Given the description of an element on the screen output the (x, y) to click on. 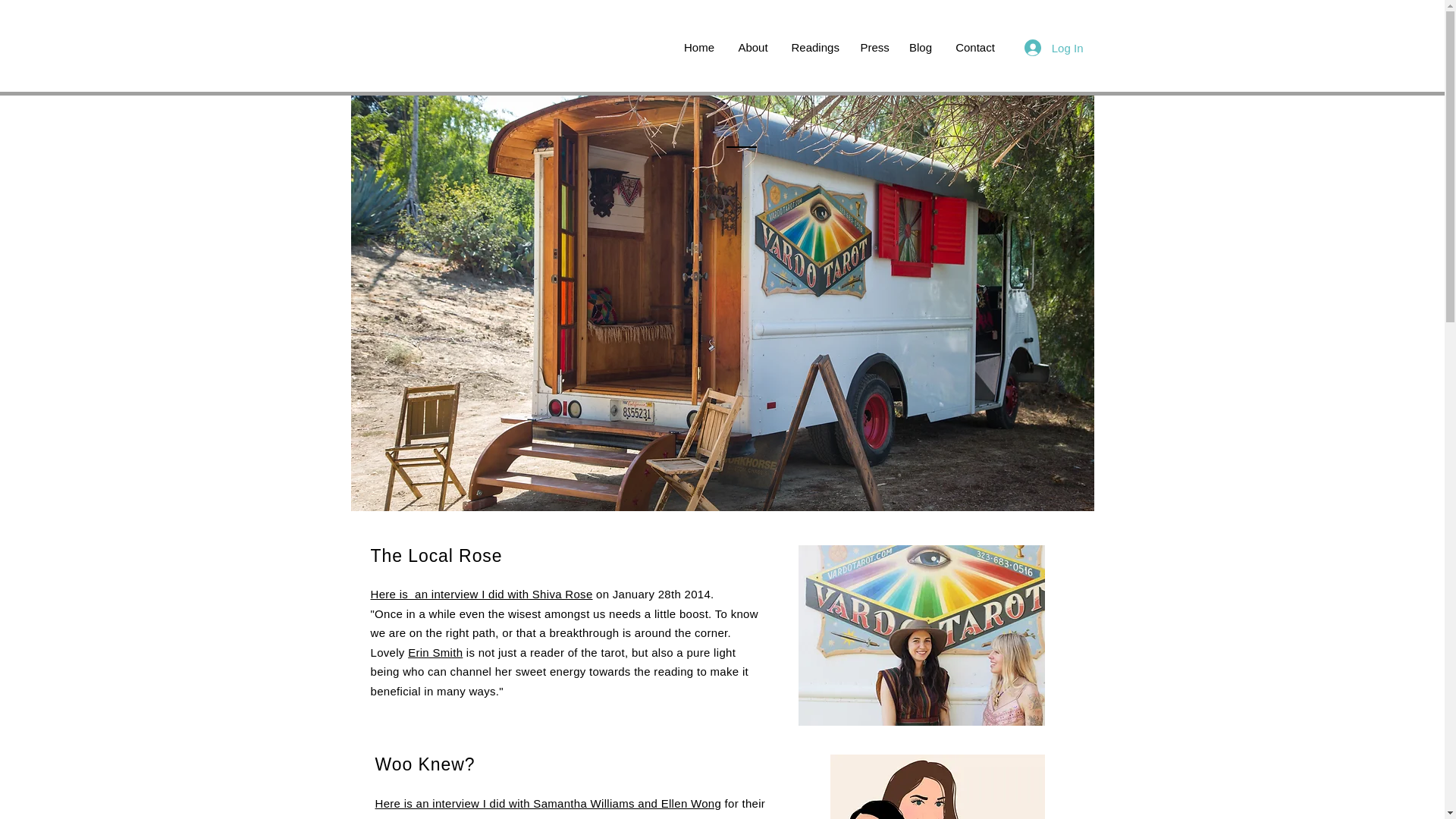
About (753, 47)
Here is  an interview I did with Shiva Rose (480, 594)
Erin Smith (435, 652)
Home (698, 47)
Log In (1053, 47)
Readings (813, 47)
Press (873, 47)
Contact (974, 47)
Blog (920, 47)
